Given the description of an element on the screen output the (x, y) to click on. 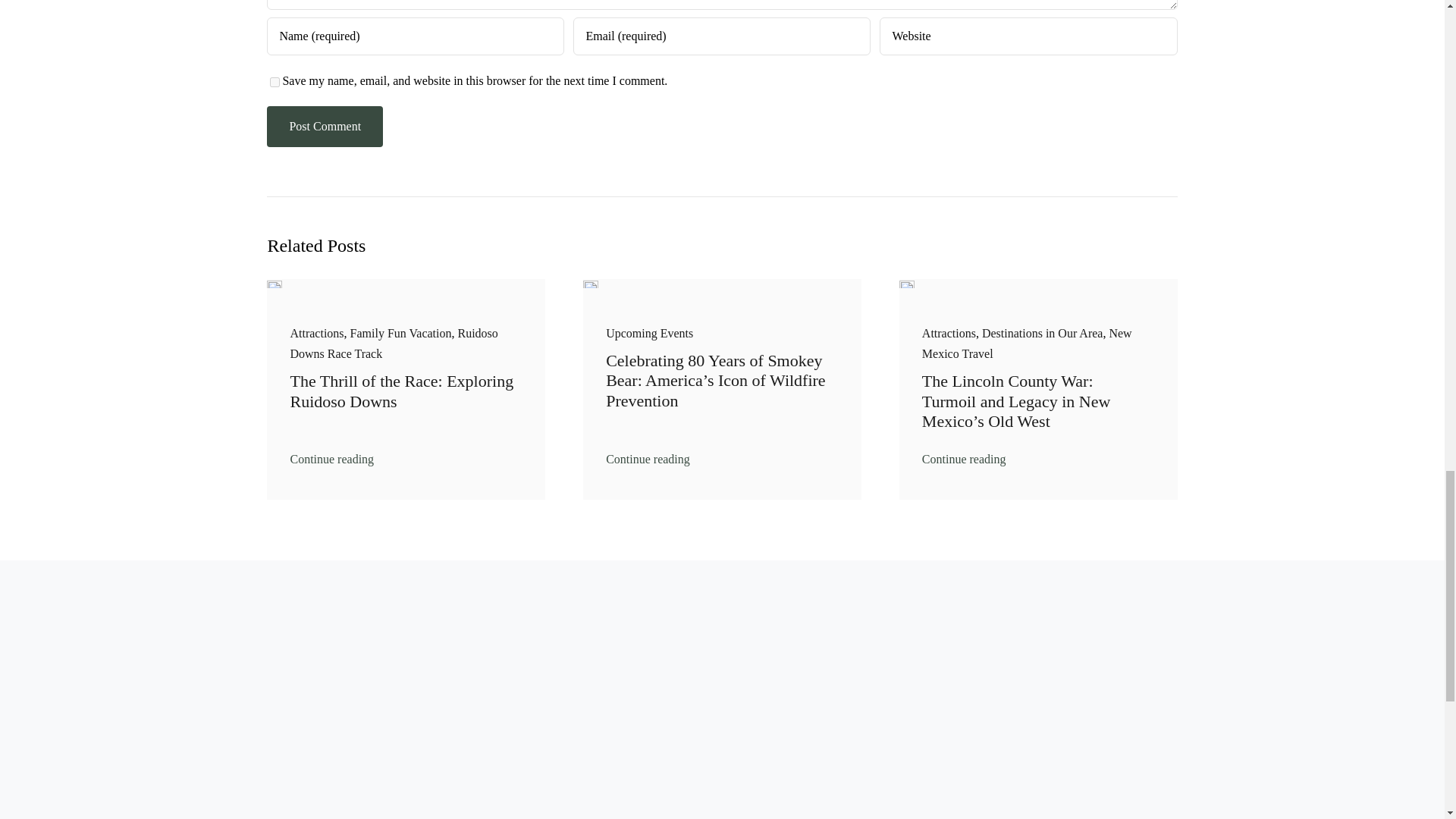
Attractions (316, 332)
Post Comment (324, 126)
Post Comment (324, 126)
yes (274, 81)
Family Fun Vacation (400, 332)
